Given the description of an element on the screen output the (x, y) to click on. 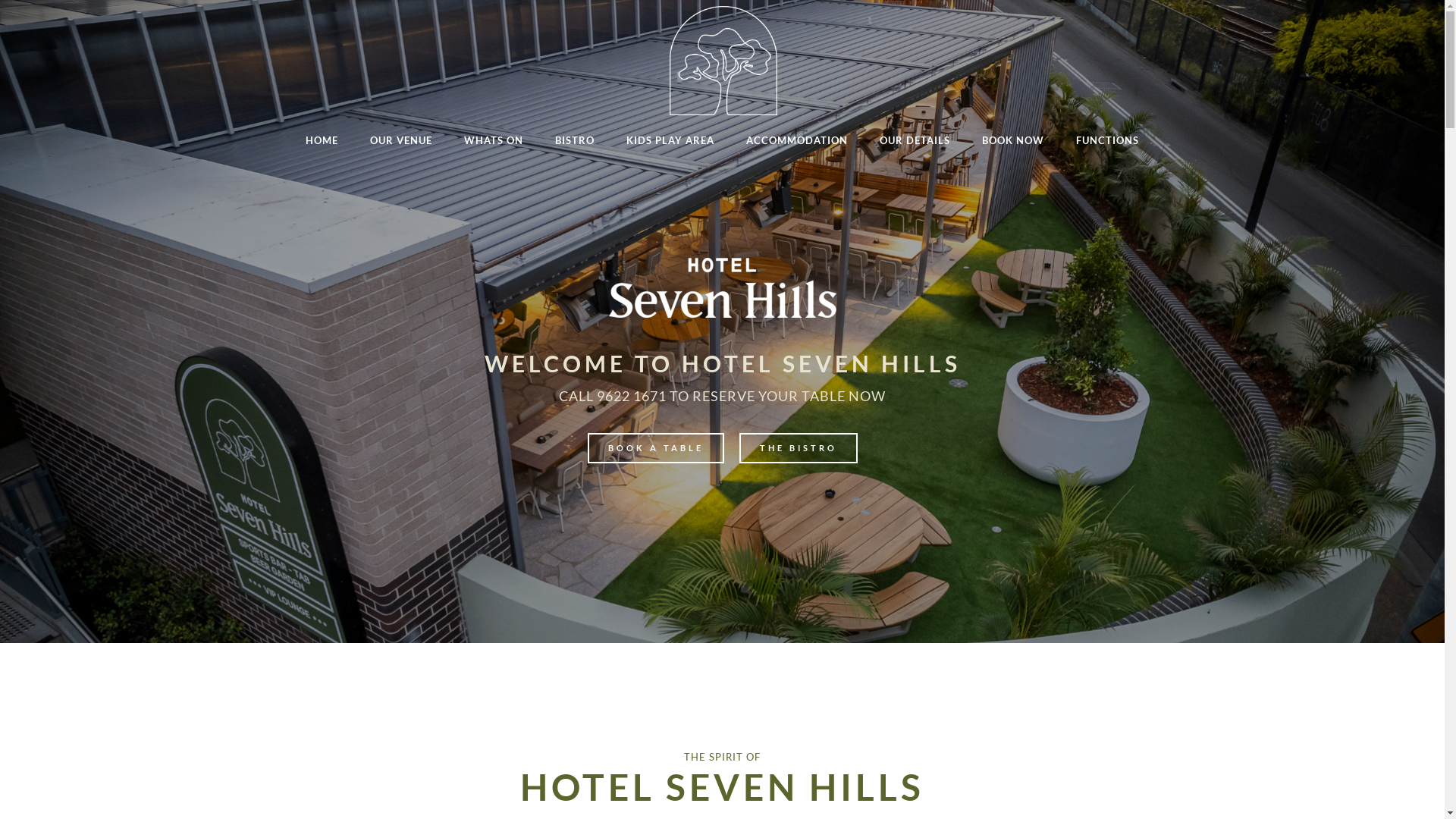
BOOK A TABLE Element type: text (654, 448)
KIDS PLAY AREA Element type: text (670, 140)
THE BISTRO Element type: text (797, 448)
OUR DETAILS Element type: text (914, 140)
FUNCTIONS Element type: text (1107, 140)
BISTRO Element type: text (574, 140)
BOOK NOW Element type: text (1013, 140)
HOME Element type: text (321, 140)
U Element type: text (987, 411)
ACCOMMODATION Element type: text (796, 140)
WHATS ON Element type: text (493, 140)
OUR VENUE Element type: text (401, 140)
